Given the description of an element on the screen output the (x, y) to click on. 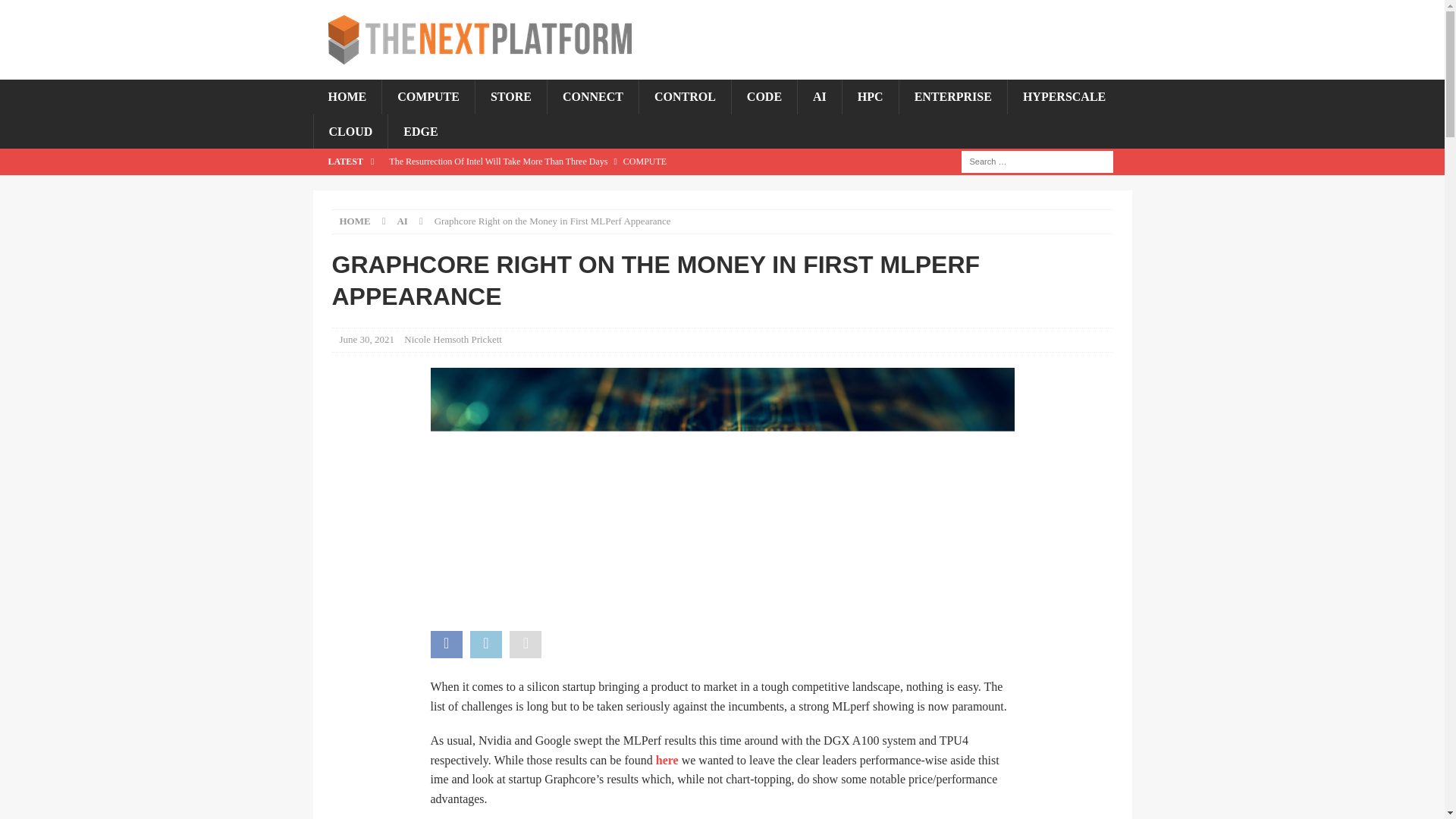
CONTROL (684, 96)
ENTERPRISE (952, 96)
CONNECT (593, 96)
HOME (355, 220)
HYPERSCALE (1064, 96)
COMPUTE (427, 96)
Search (56, 11)
AI (818, 96)
Nicole Hemsoth Prickett (453, 338)
The Resurrection Of Intel Will Take More Than Three Days (611, 161)
HOME (347, 96)
STORE (510, 96)
CODE (763, 96)
CLOUD (350, 131)
